Given the description of an element on the screen output the (x, y) to click on. 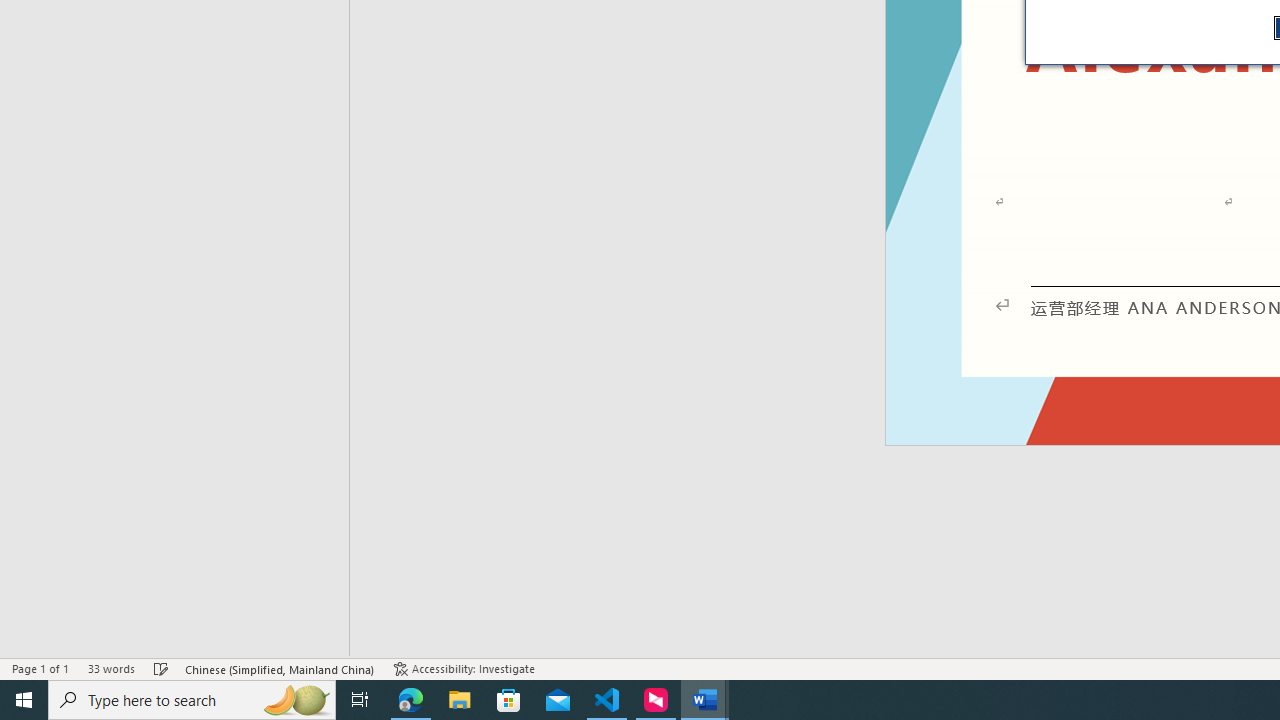
Page Number Page 1 of 1 (39, 668)
